Given the description of an element on the screen output the (x, y) to click on. 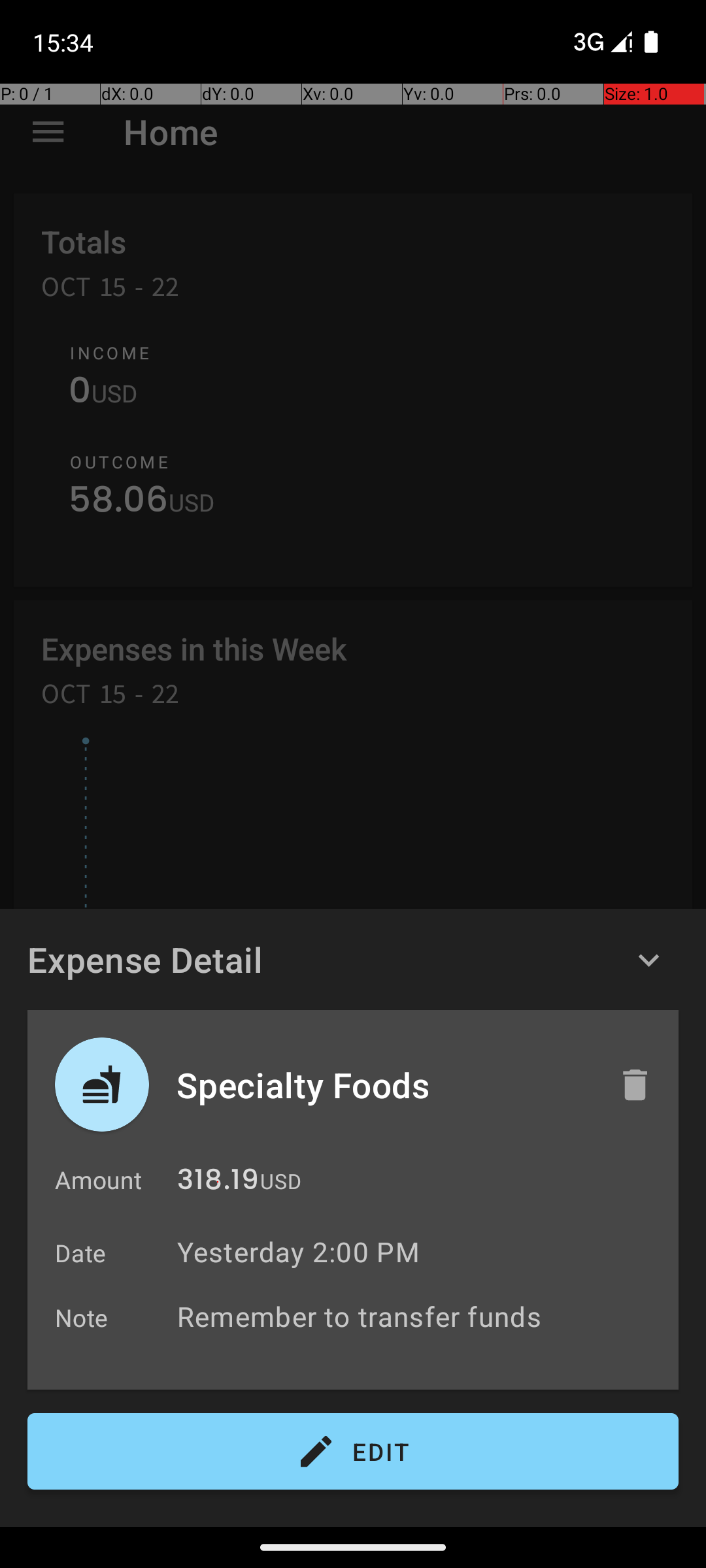
Specialty Foods Element type: android.widget.TextView (383, 1084)
318.19 Element type: android.widget.TextView (217, 1182)
Yesterday 2:00 PM Element type: android.widget.TextView (298, 1251)
Remember to transfer funds Element type: android.widget.TextView (420, 1315)
